Given the description of an element on the screen output the (x, y) to click on. 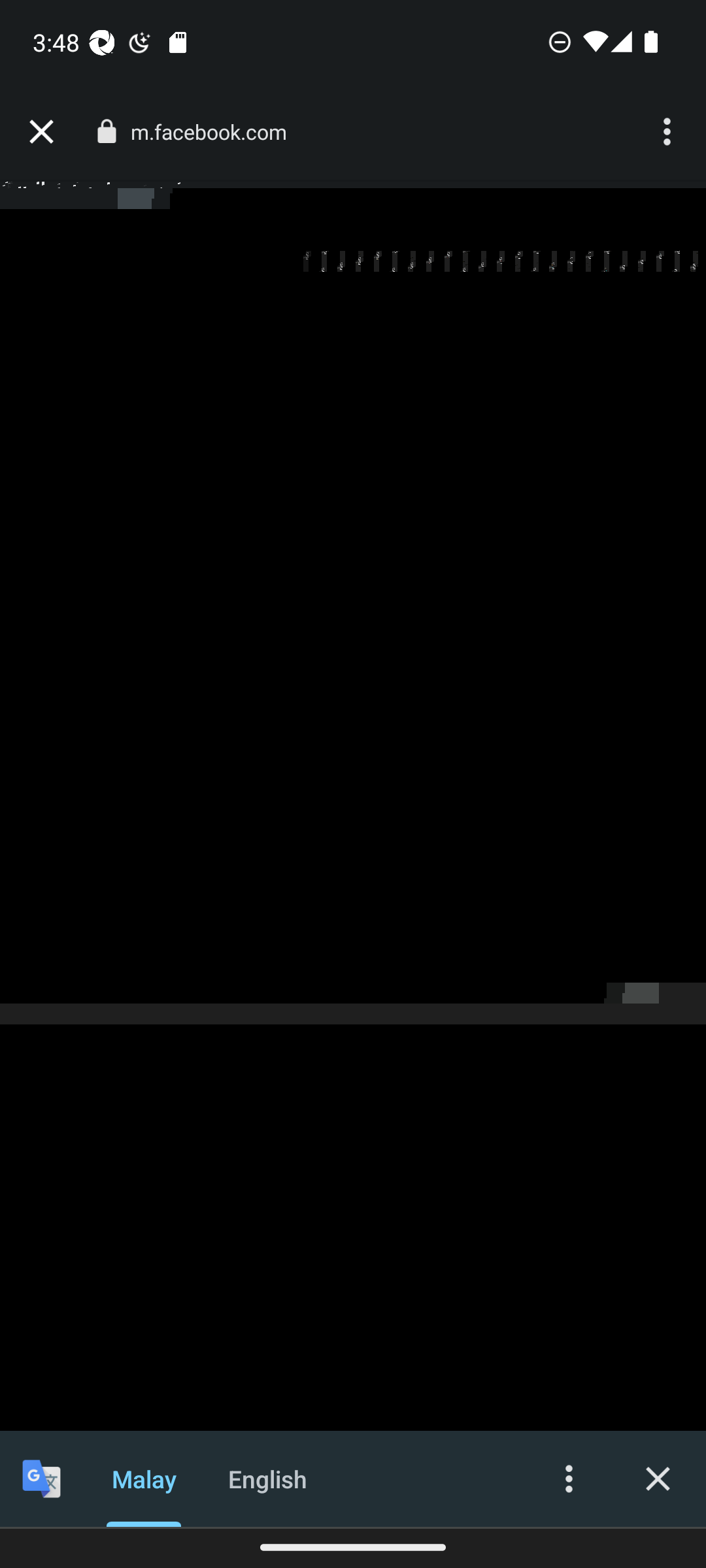
Close tab (41, 131)
More options (669, 131)
Connection is secure (106, 131)
m.facebook.com (215, 131)
English (267, 1478)
More options (568, 1478)
Close (657, 1478)
